Given the description of an element on the screen output the (x, y) to click on. 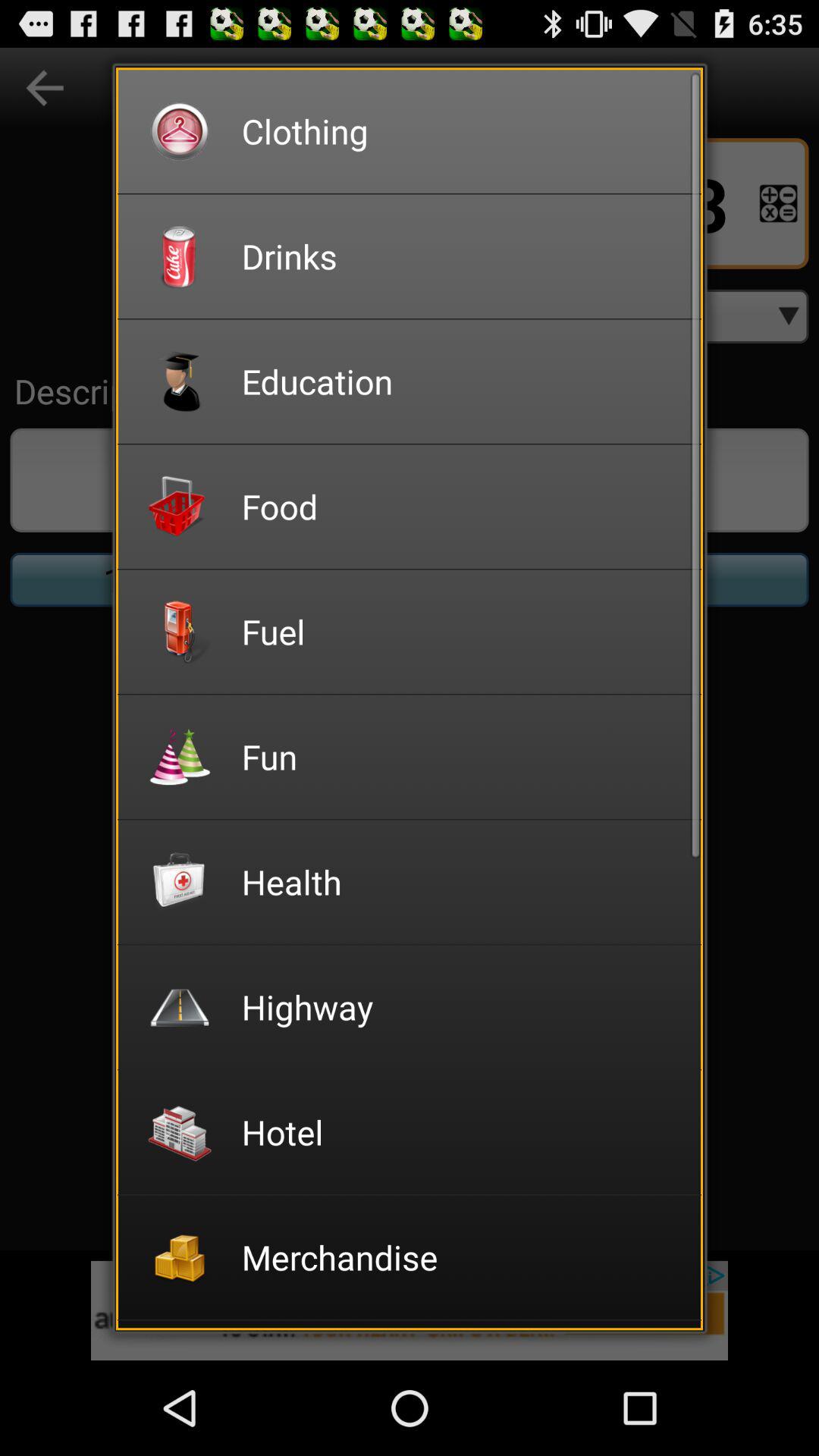
open the icon above the food app (461, 381)
